Given the description of an element on the screen output the (x, y) to click on. 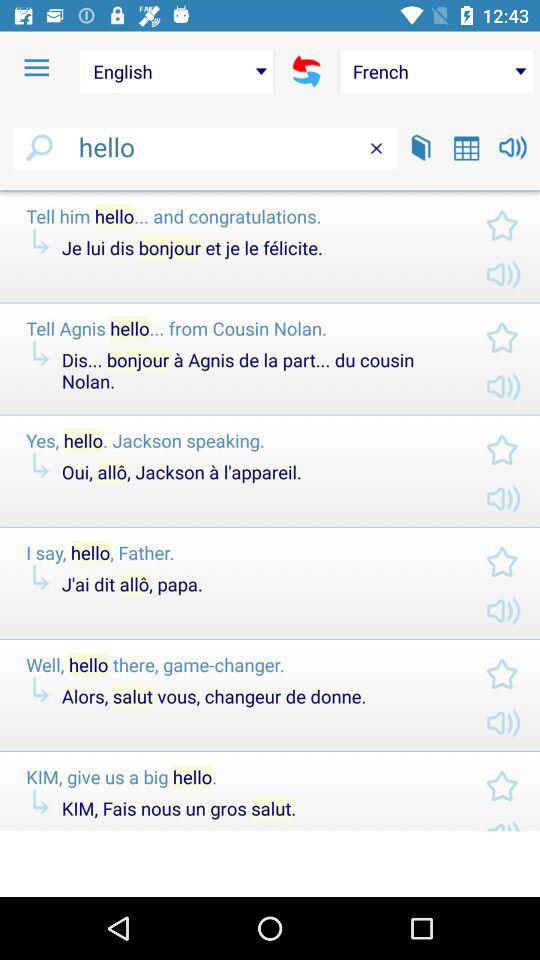
scroll to the j ai dit (257, 583)
